Given the description of an element on the screen output the (x, y) to click on. 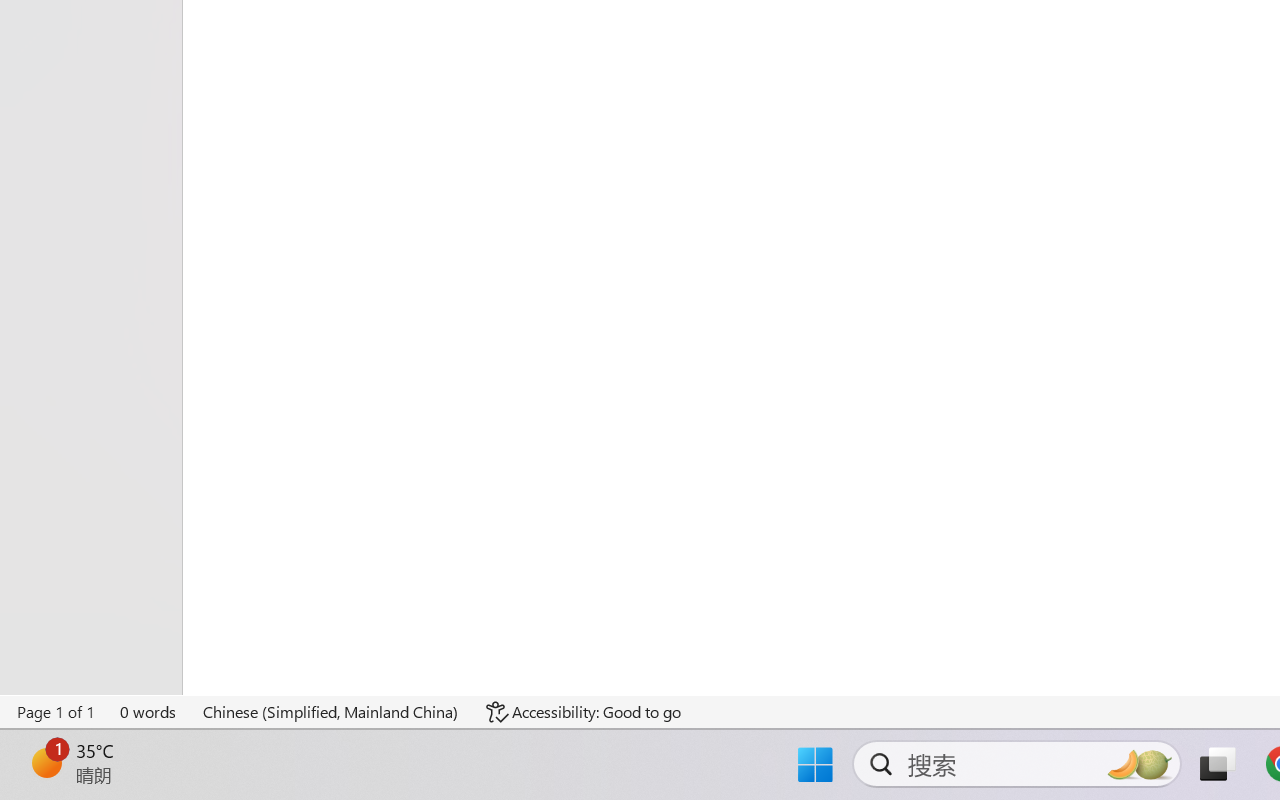
Language Chinese (Simplified, Mainland China) (331, 712)
